Given the description of an element on the screen output the (x, y) to click on. 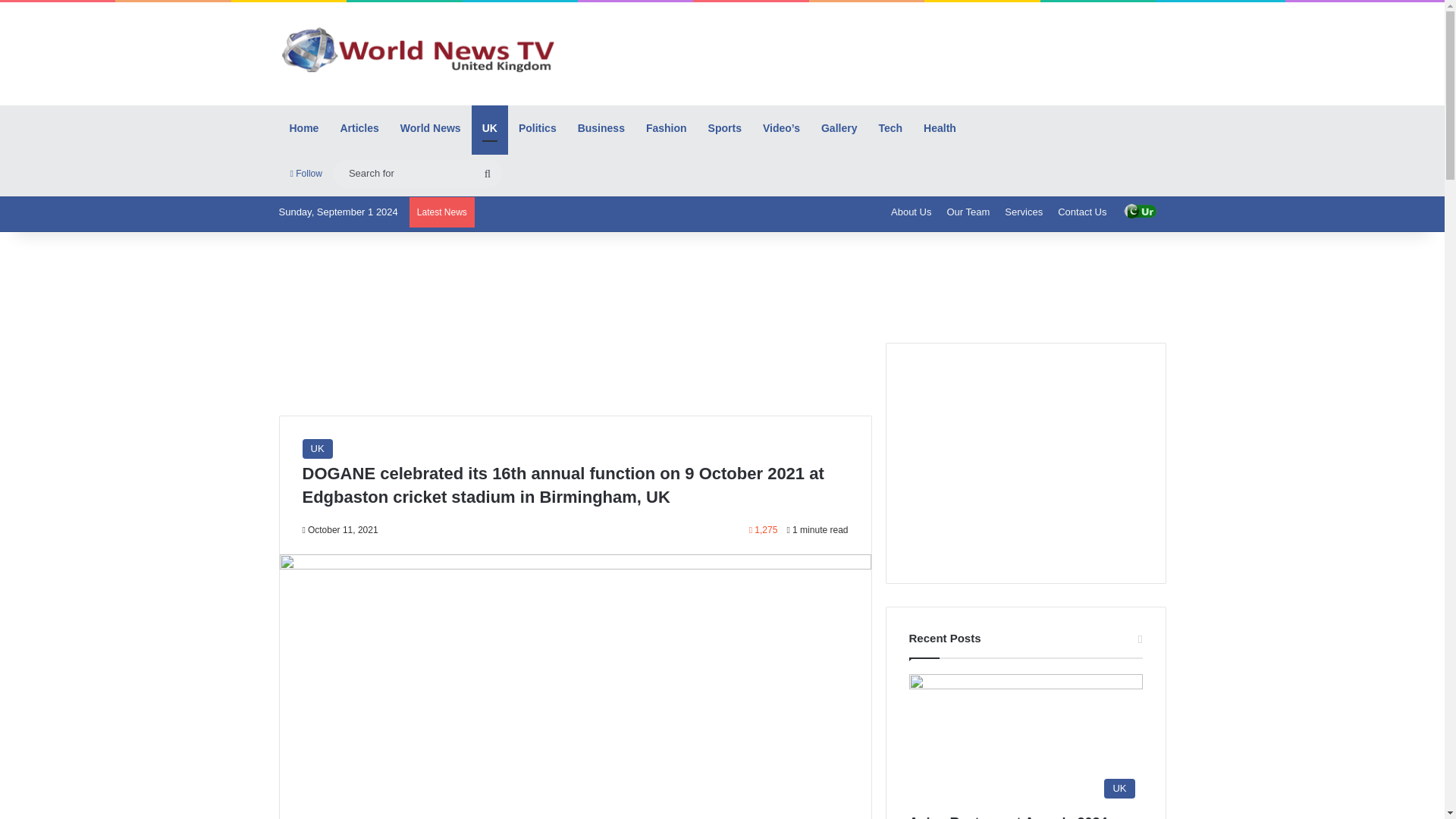
Business (600, 127)
UK (316, 448)
Our Team (968, 212)
Politics (537, 127)
Contact Us (1081, 212)
Sports (724, 127)
Follow (306, 173)
Articles (358, 127)
Home (304, 127)
Fashion (665, 127)
